Given the description of an element on the screen output the (x, y) to click on. 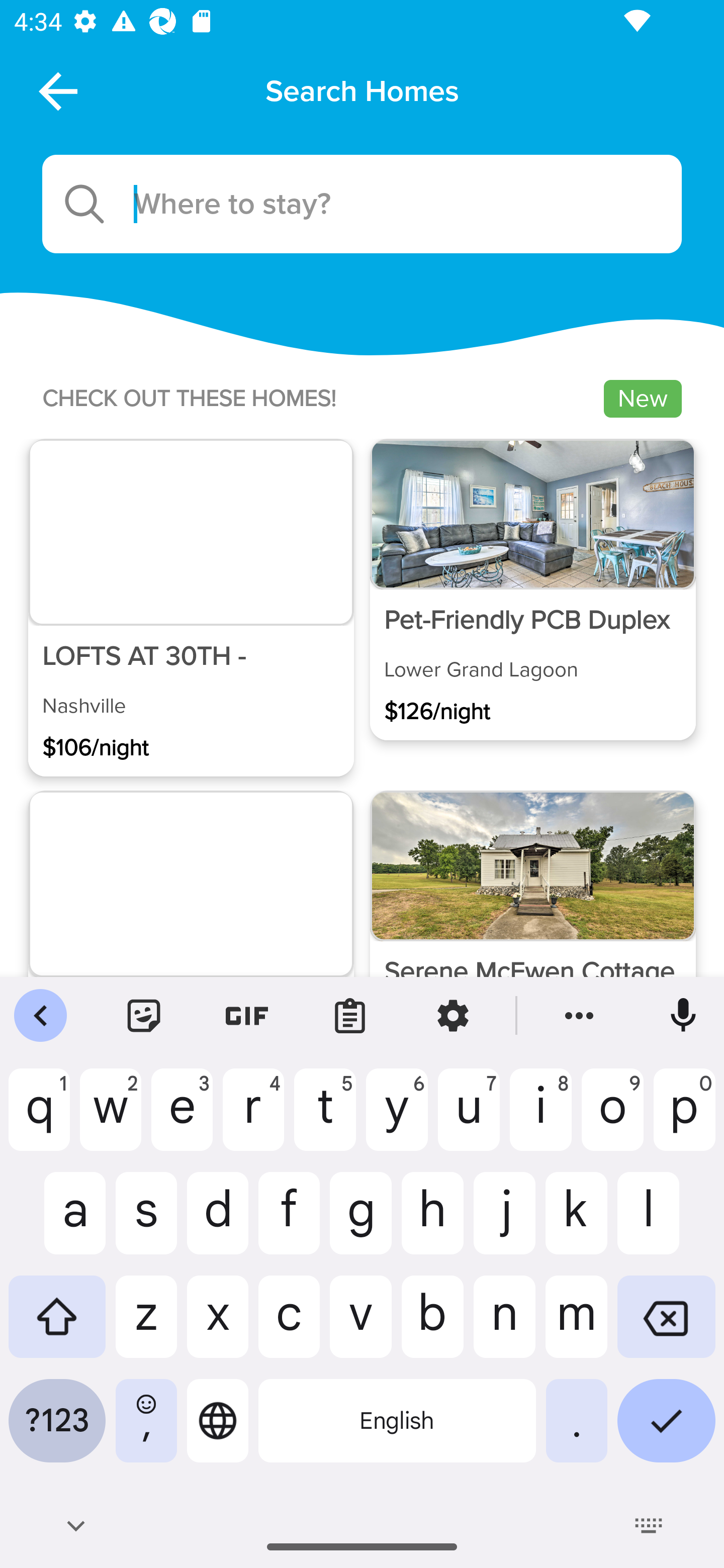
Icon close screen (55, 90)
Search icon Where to stay? (361, 204)
‍Serene McEwen Cottage ~ 2 Mi to Golf Course! (532, 940)
